Given the description of an element on the screen output the (x, y) to click on. 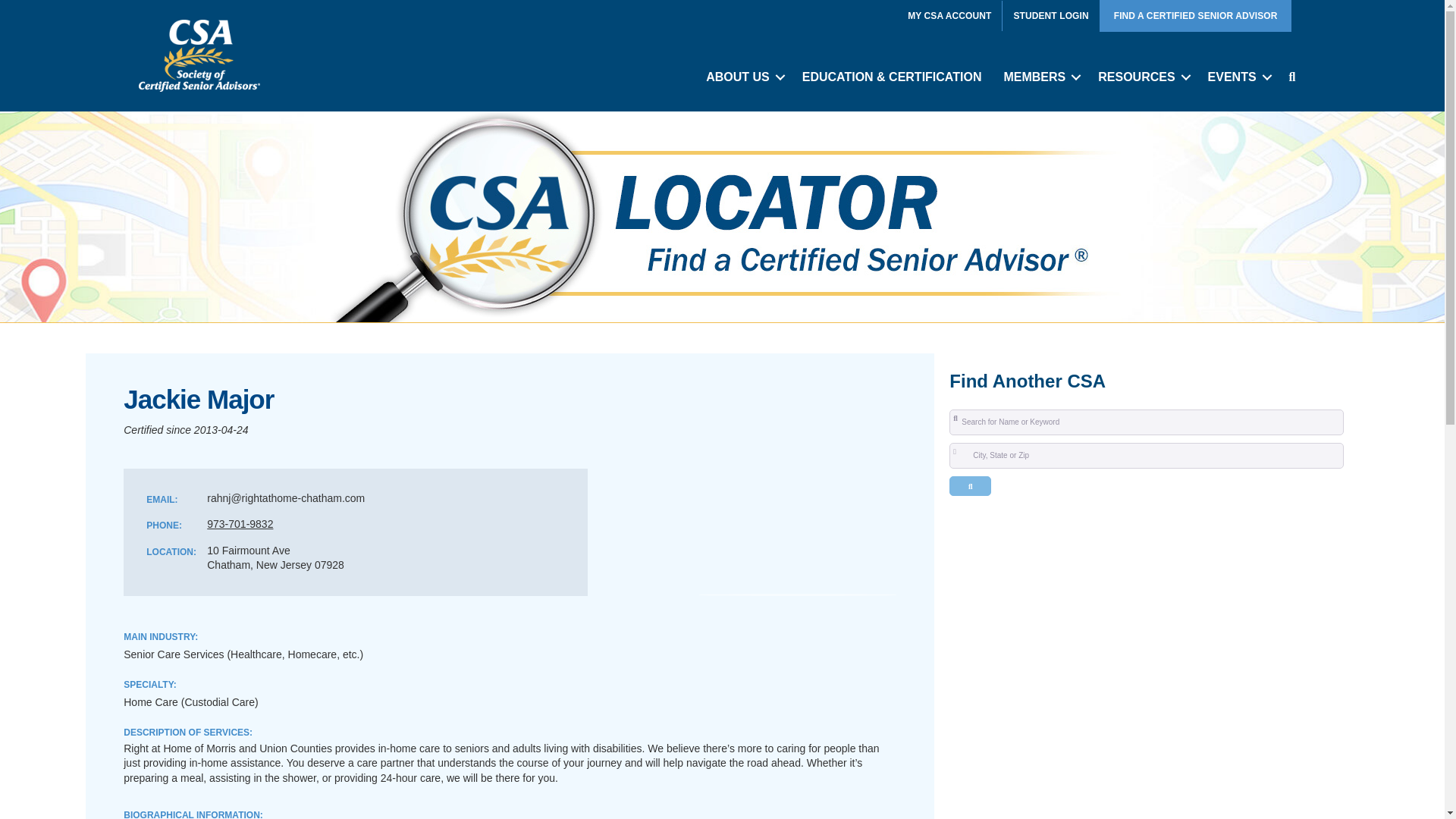
ABOUT US (742, 77)
973-701-9832 (239, 523)
MEMBERS (1039, 77)
Jackie Major (797, 594)
MY CSA ACCOUNT (948, 15)
RESOURCES (1141, 77)
EVENTS (1237, 77)
Search (970, 485)
FIND A CERTIFIED SENIOR ADVISOR (1195, 15)
